Given the description of an element on the screen output the (x, y) to click on. 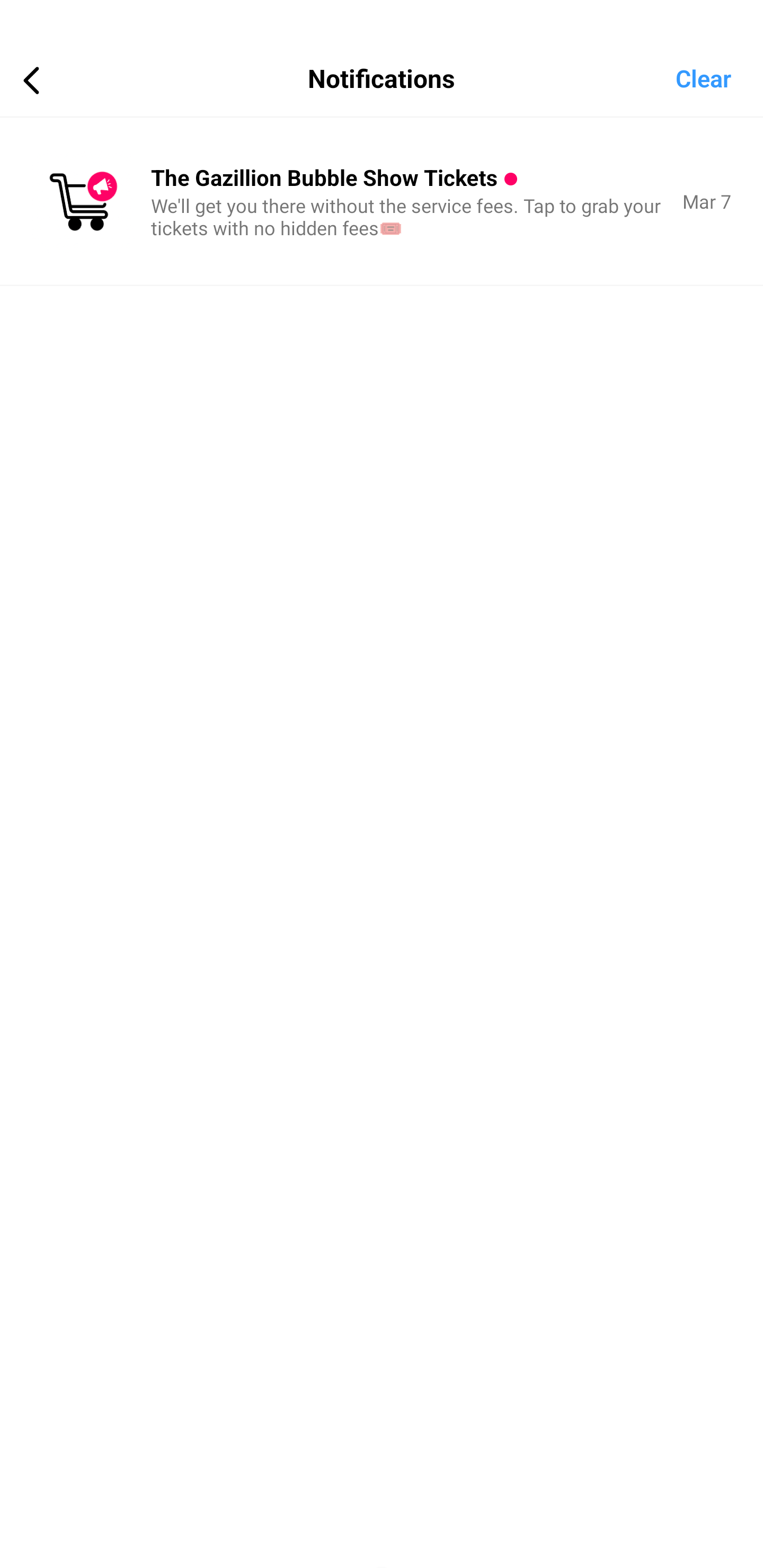
Clear (719, 77)
